Given the description of an element on the screen output the (x, y) to click on. 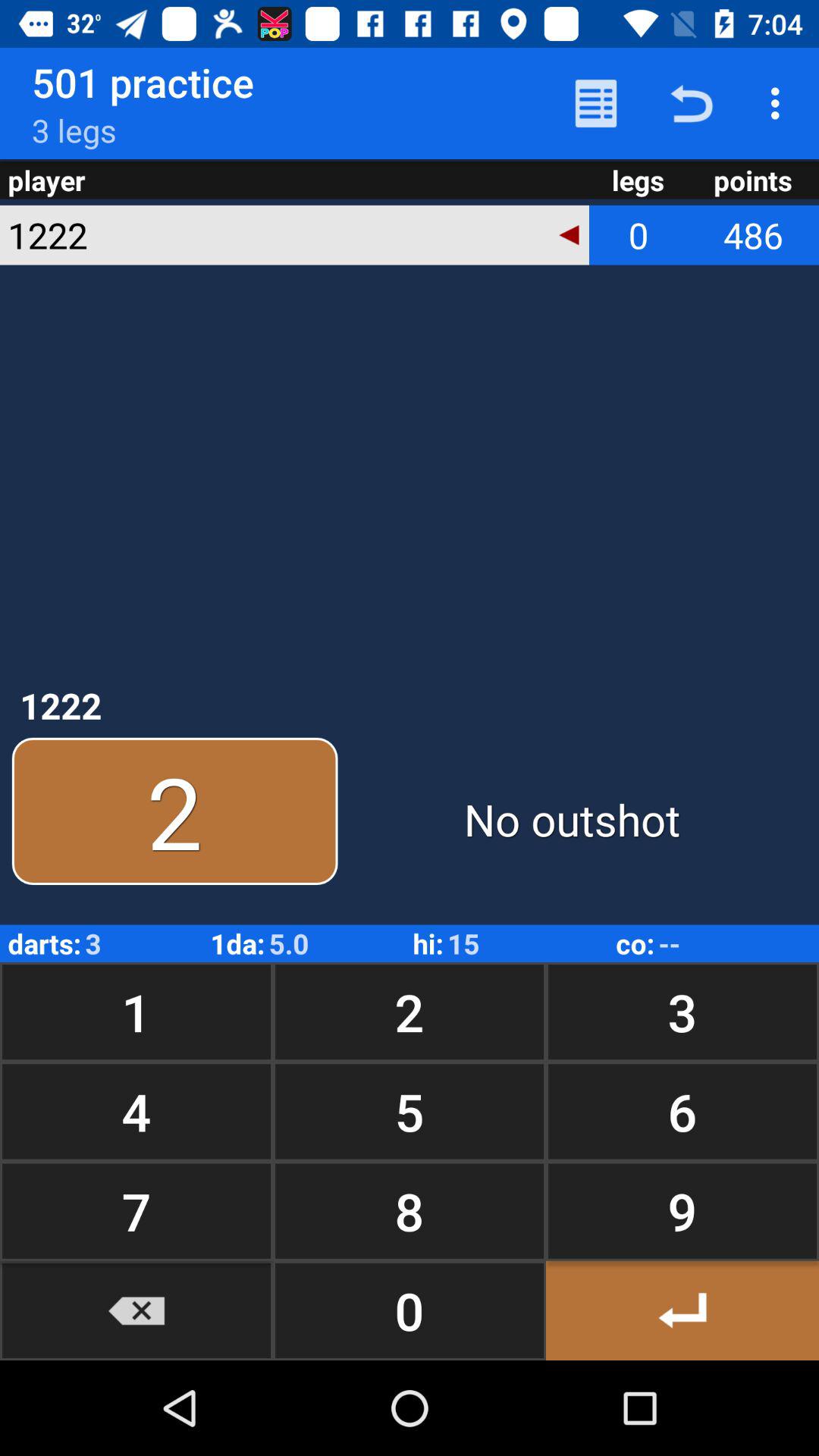
open the button to the left of 6 icon (409, 1210)
